Given the description of an element on the screen output the (x, y) to click on. 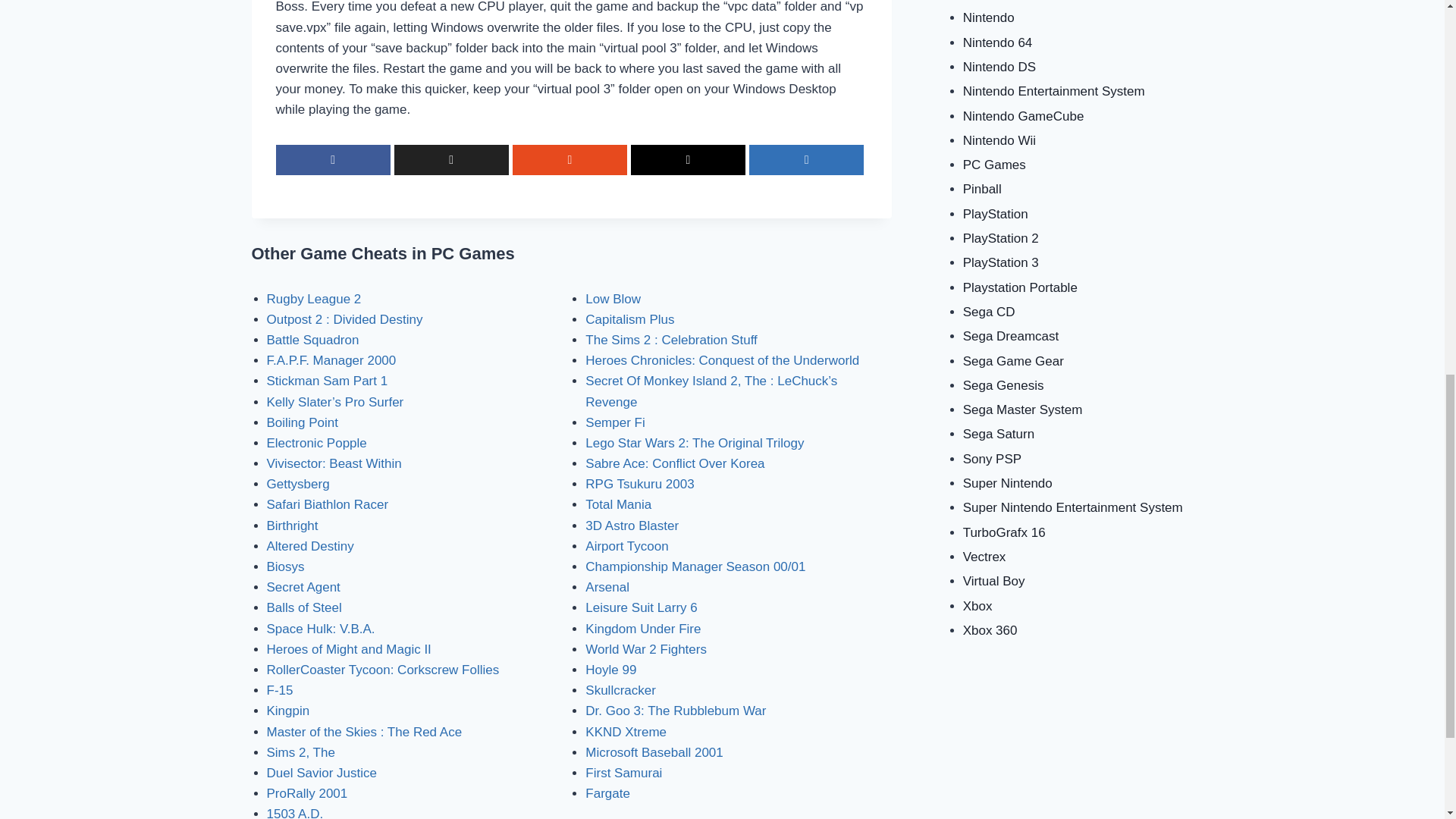
Stickman Sam Part 1 (327, 380)
Electronic Popple (316, 442)
Vivisector: Beast Within (333, 463)
Rugby League 2 (313, 298)
Space Hulk: V.B.A. (320, 628)
Secret Agent (303, 586)
Biosys (285, 566)
Battle Squadron (312, 339)
Birthright (292, 525)
Balls of Steel (304, 607)
